Given the description of an element on the screen output the (x, y) to click on. 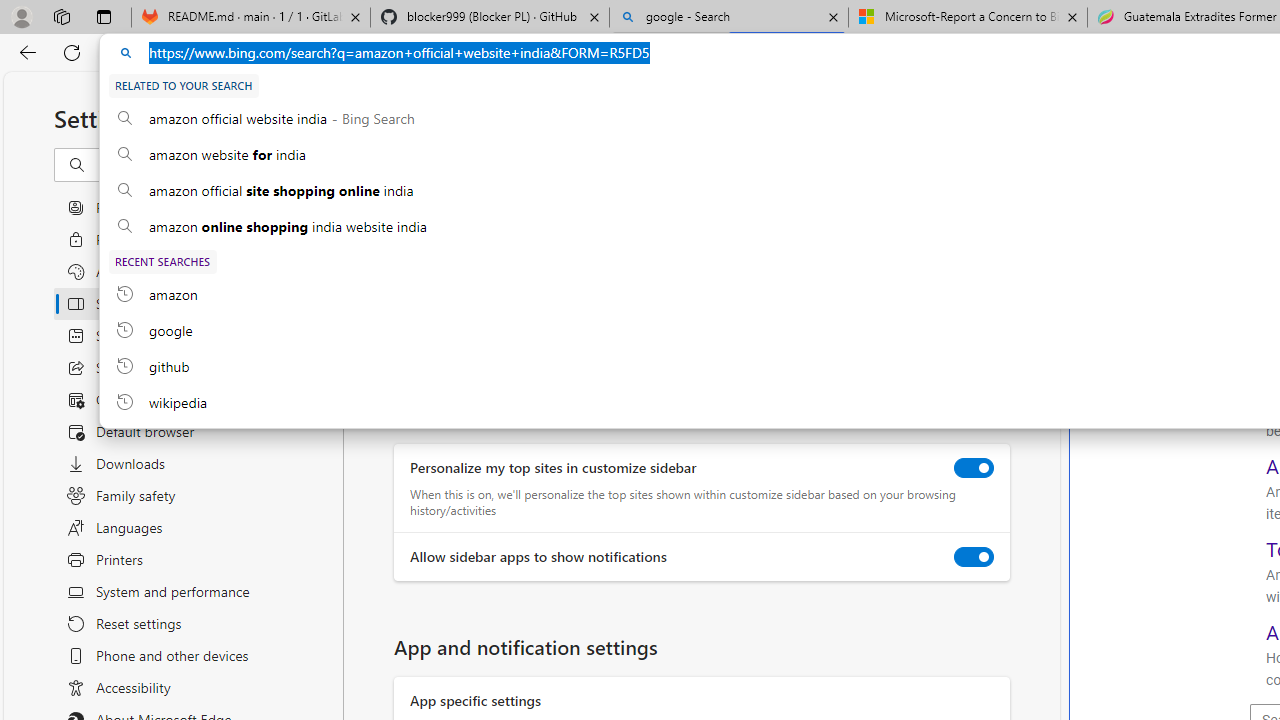
Personalize my top sites in customize sidebar (973, 467)
Allow sidebar apps to show notifications (973, 557)
Back to Bing search (1139, 113)
Always on Sidebar will always show (413, 183)
Search button (1253, 117)
Search settings (207, 165)
